Given the description of an element on the screen output the (x, y) to click on. 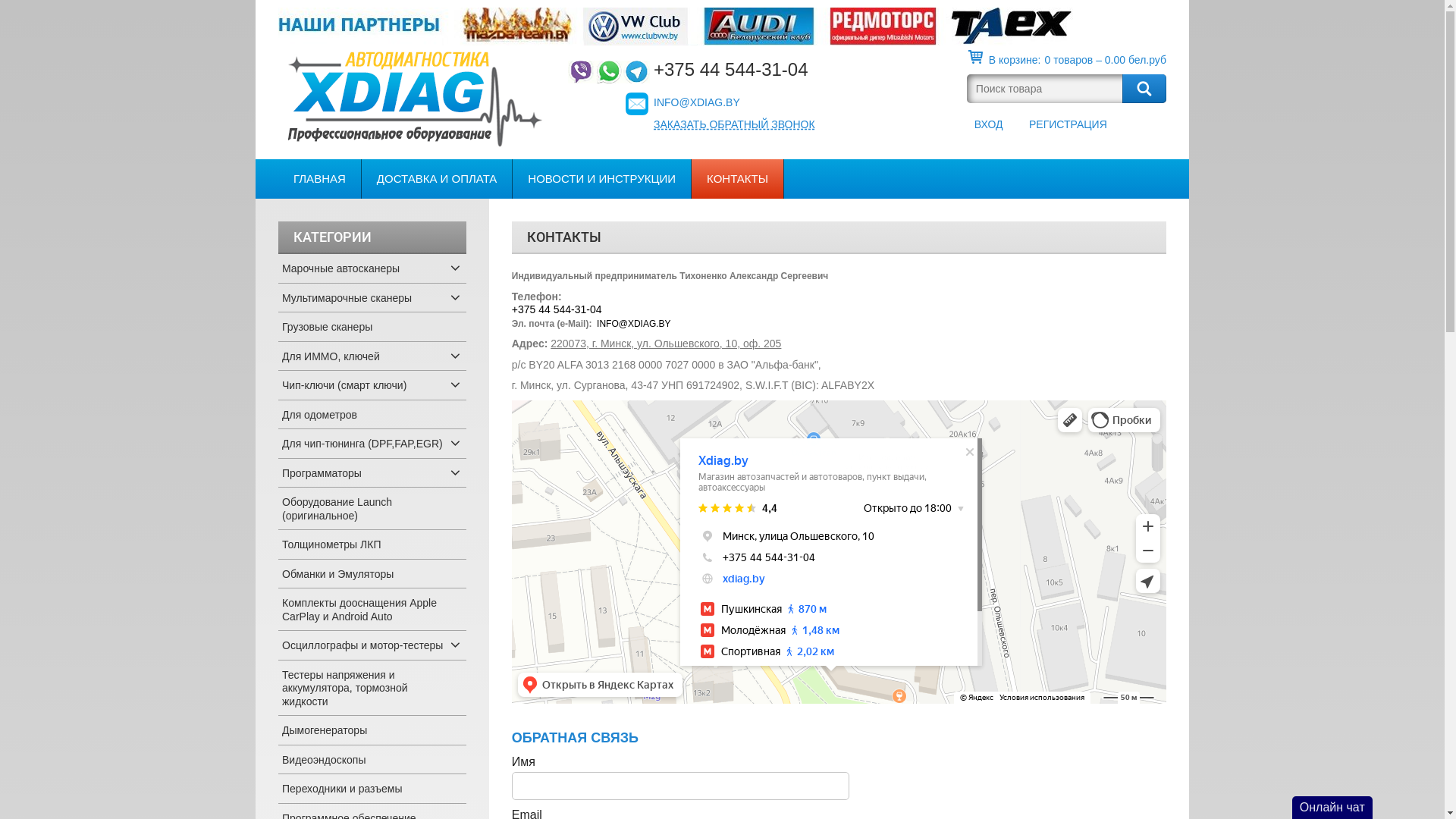
+375 44 544-31-04 Element type: text (730, 71)
INFO@XDIAG.BY Element type: text (633, 323)
INFO@XDIAG.BY Element type: text (696, 102)
+375 44 544-31-04 Element type: text (556, 309)
